Given the description of an element on the screen output the (x, y) to click on. 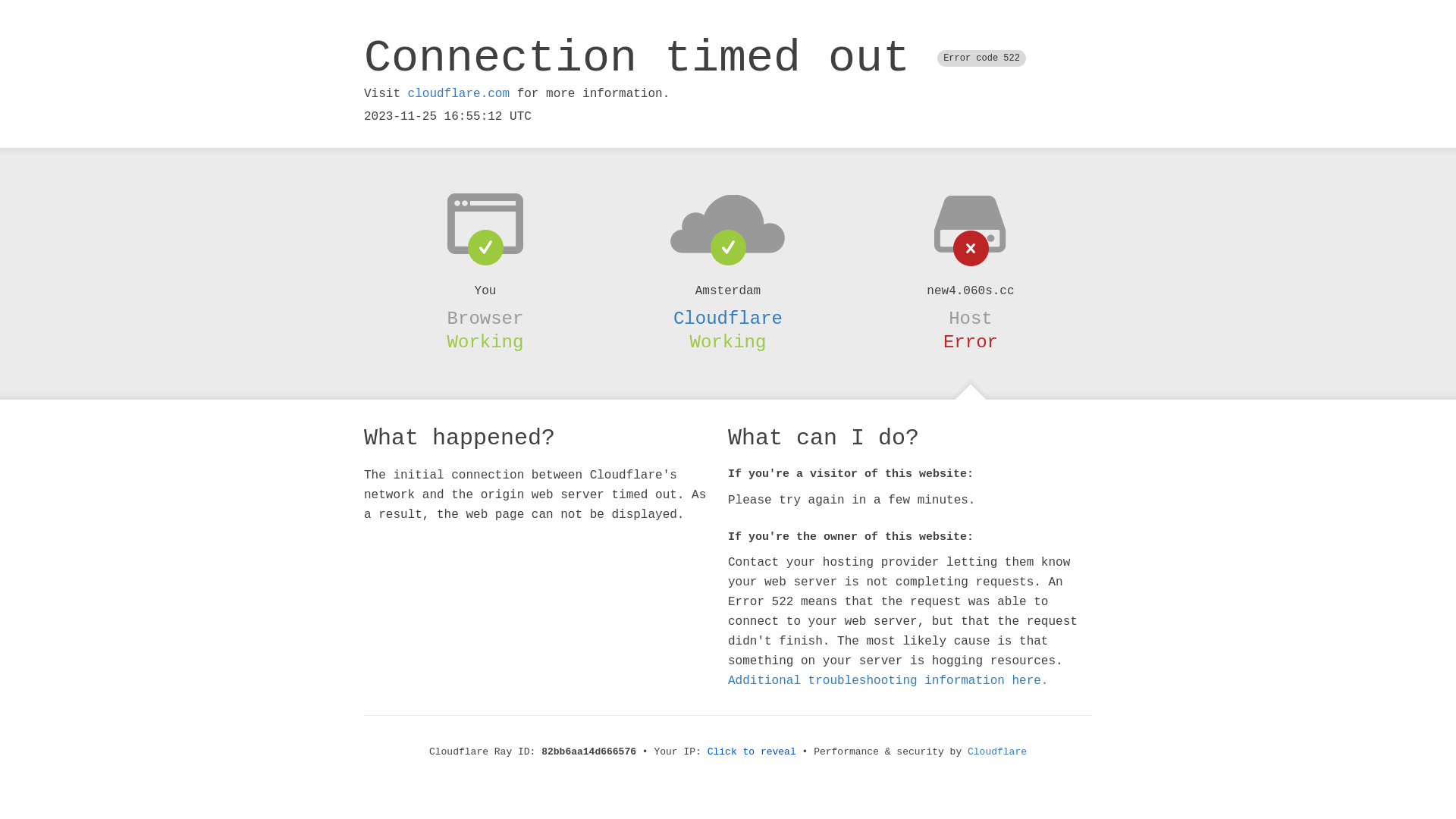
cloudflare.com Element type: text (458, 93)
Cloudflare Element type: text (727, 318)
Additional troubleshooting information here. Element type: text (888, 680)
Cloudflare Element type: text (996, 751)
Click to reveal Element type: text (751, 751)
